Given the description of an element on the screen output the (x, y) to click on. 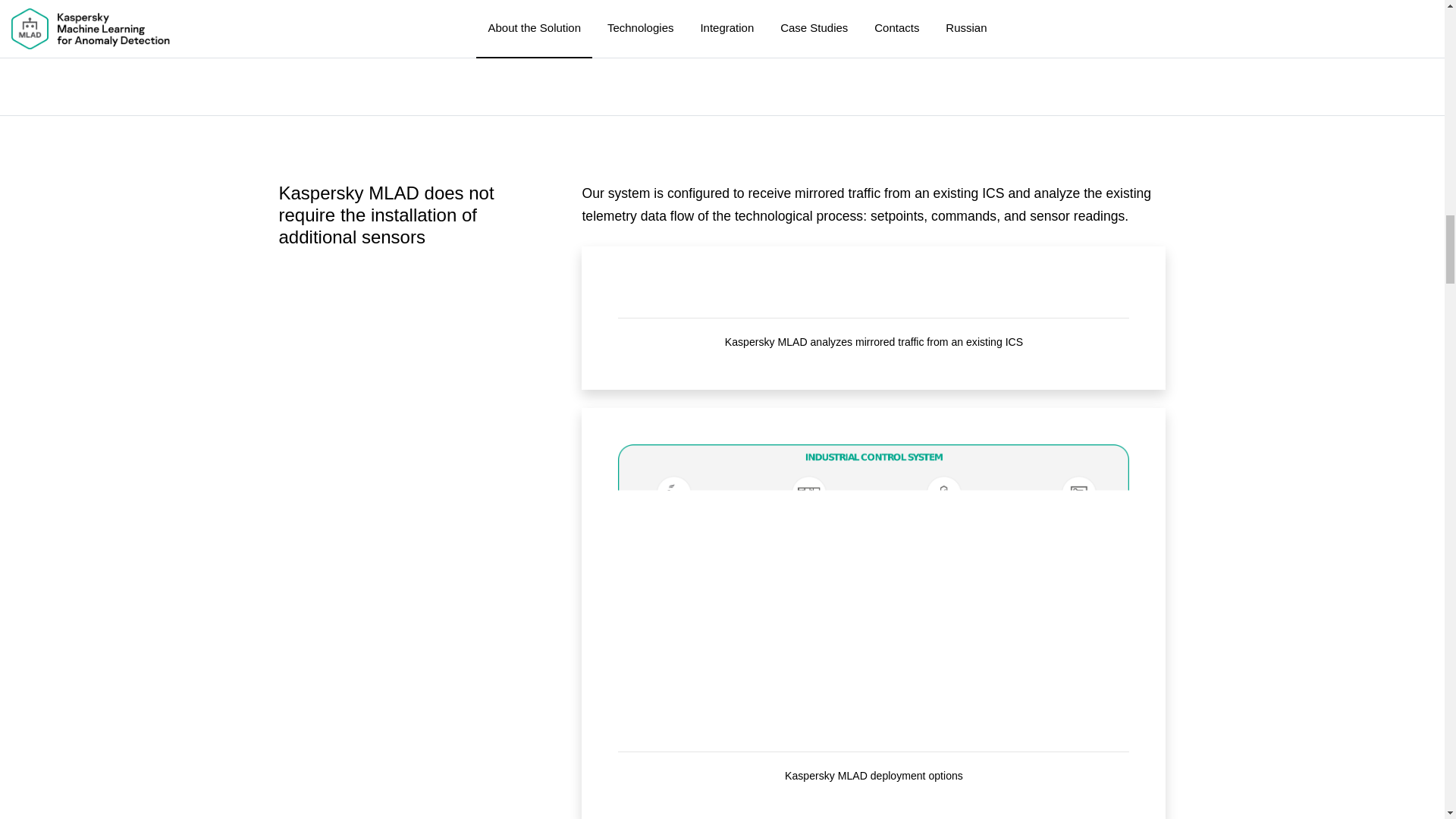
Kaspersky MLAD deployment options (873, 590)
